Given the description of an element on the screen output the (x, y) to click on. 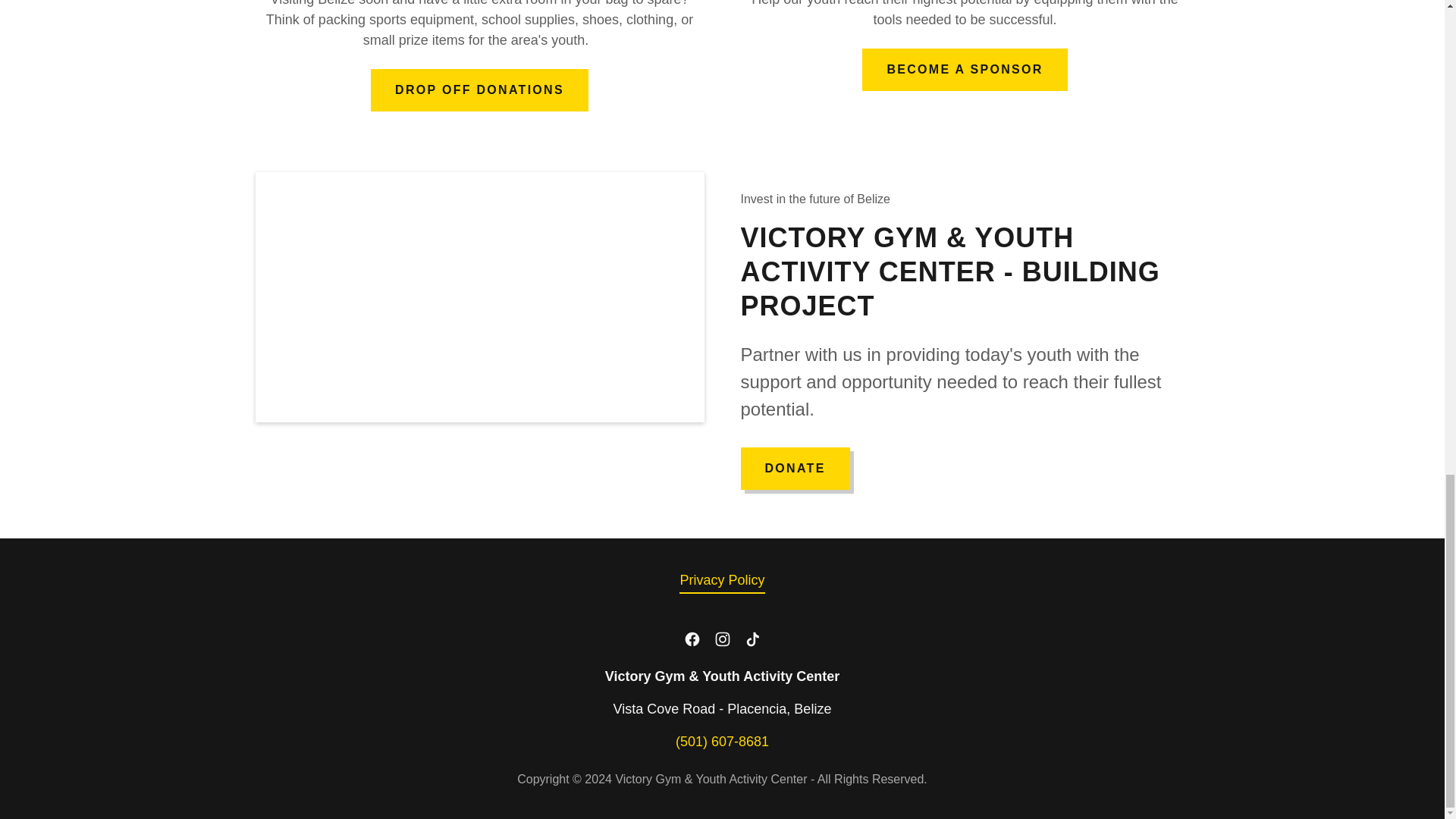
BECOME A SPONSOR (964, 69)
Privacy Policy (721, 580)
DONATE (793, 468)
DROP OFF DONATIONS (479, 89)
